Given the description of an element on the screen output the (x, y) to click on. 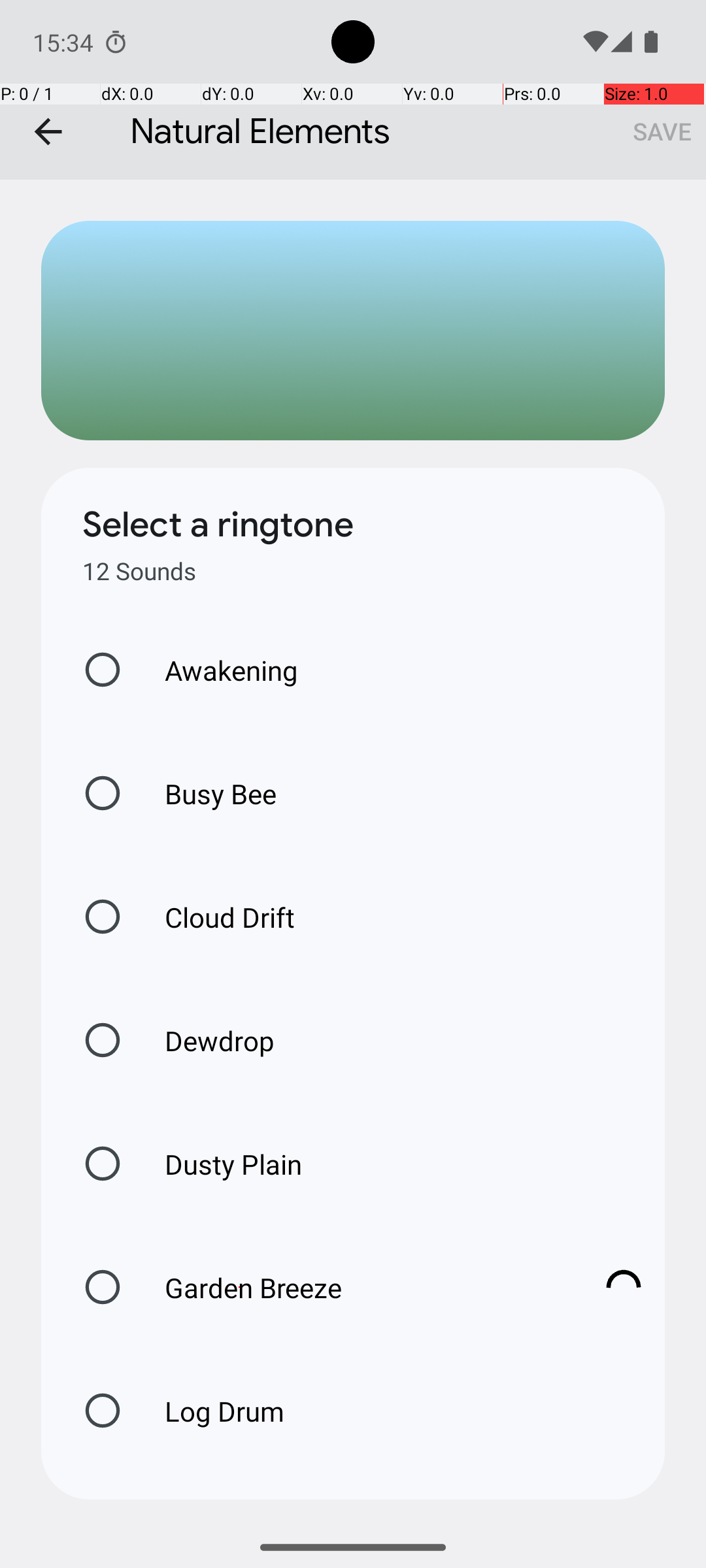
Awakening Element type: android.widget.TextView (217, 669)
Busy Bee Element type: android.widget.TextView (206, 793)
Cloud Drift Element type: android.widget.TextView (215, 916)
Dewdrop Element type: android.widget.TextView (205, 1040)
Dusty Plain Element type: android.widget.TextView (219, 1163)
Garden Breeze Element type: android.widget.TextView (359, 1287)
Download in progress Element type: android.widget.ImageView (623, 1286)
Log Drum Element type: android.widget.TextView (210, 1410)
